Given the description of an element on the screen output the (x, y) to click on. 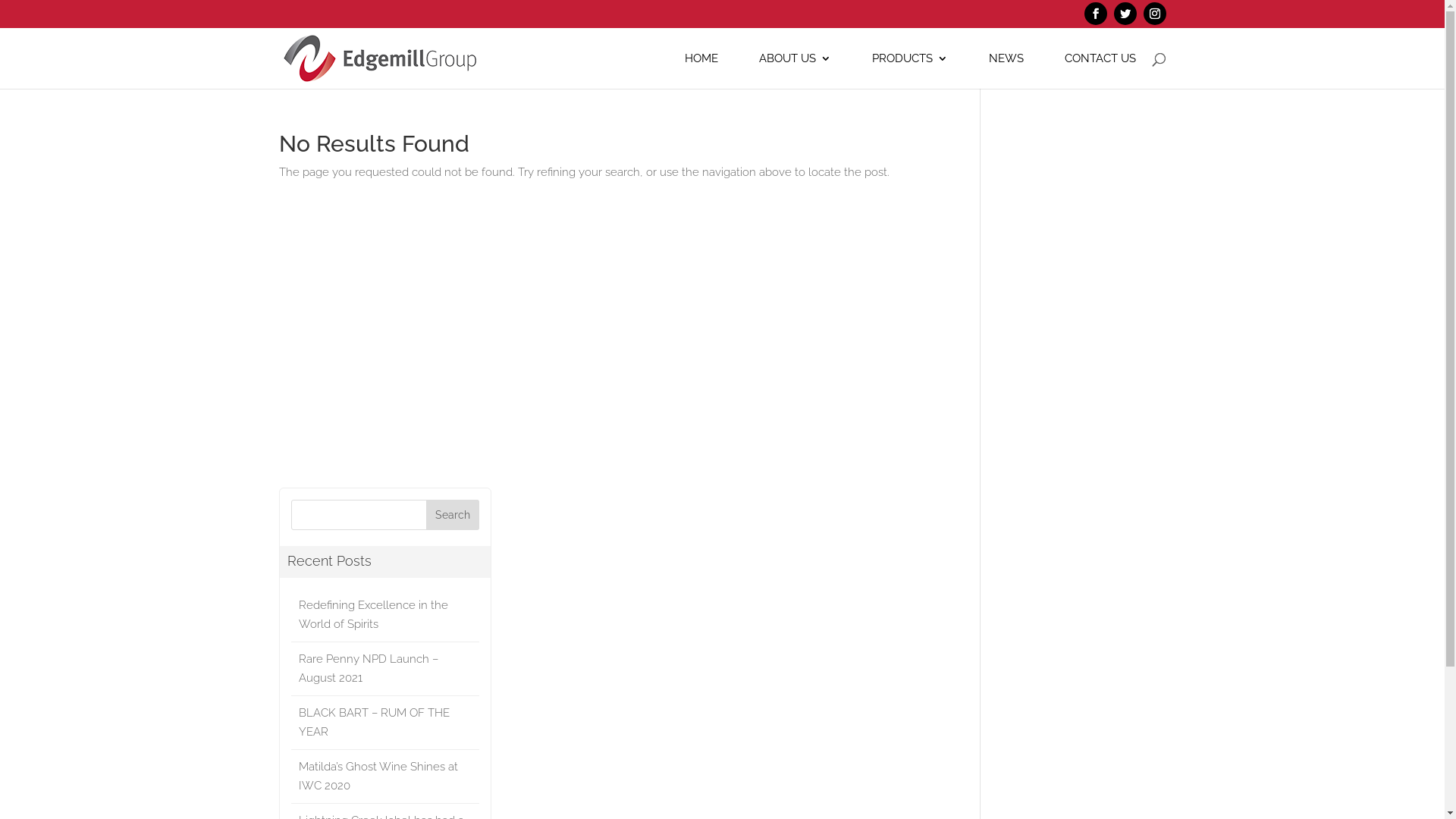
Redefining Excellence in the World of Spirits Element type: text (385, 615)
NEWS Element type: text (1005, 70)
ABOUT US Element type: text (794, 70)
Search Element type: text (452, 514)
CONTACT US Element type: text (1099, 70)
PRODUCTS Element type: text (909, 70)
HOME Element type: text (700, 70)
